Given the description of an element on the screen output the (x, y) to click on. 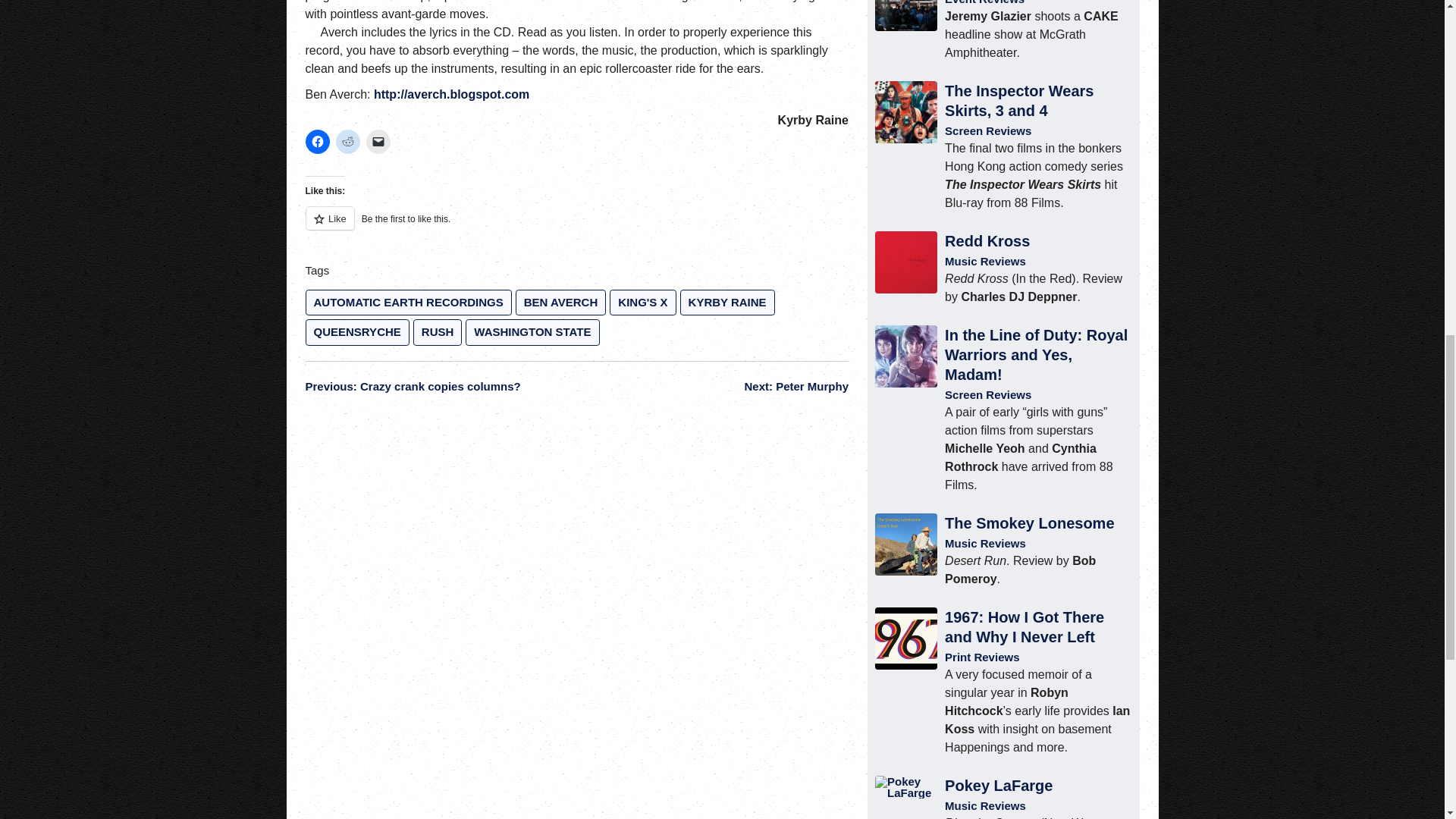
Click to share on Facebook (316, 141)
Click to share on Reddit (346, 141)
Like or Reblog (575, 227)
Click to email a link to a friend (377, 141)
